Given the description of an element on the screen output the (x, y) to click on. 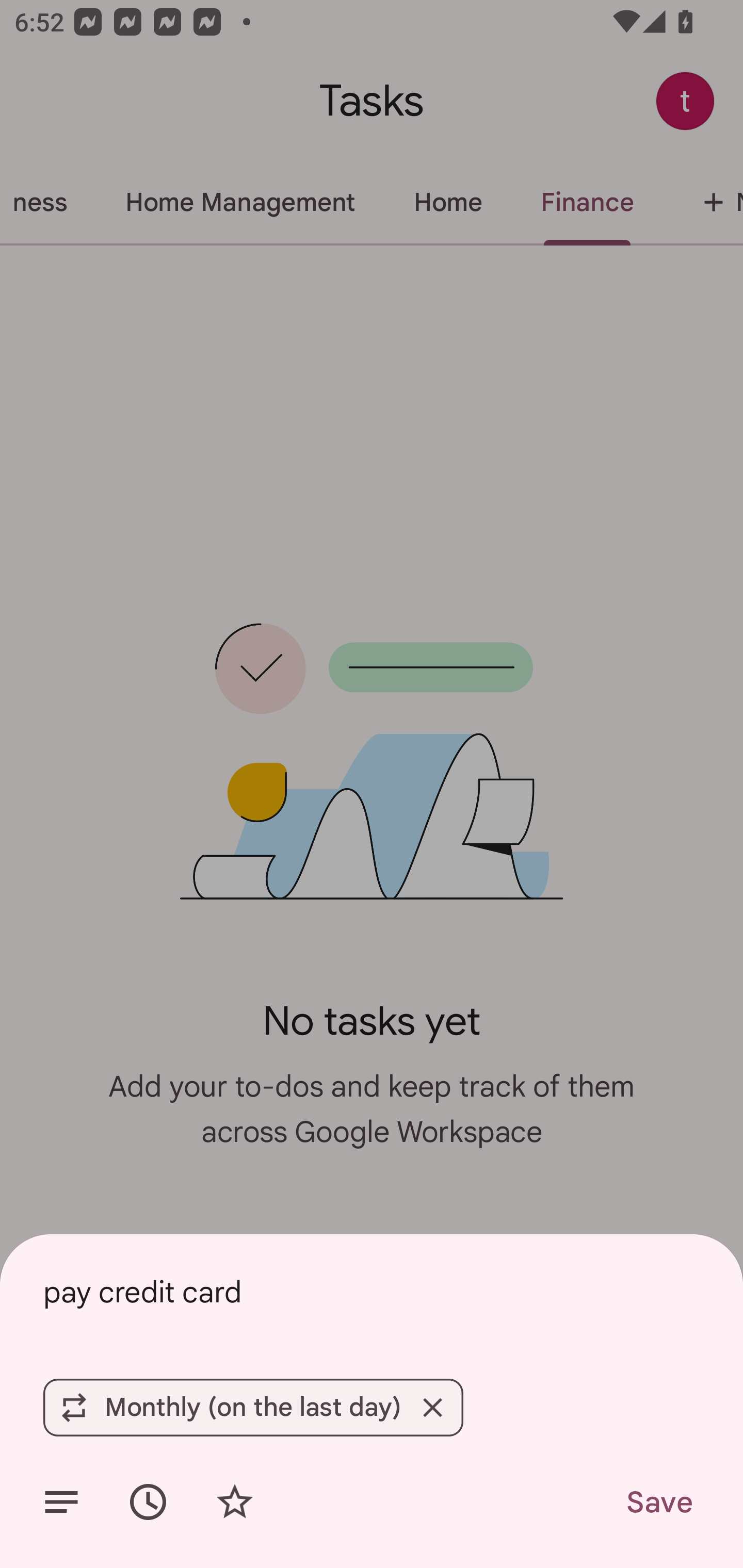
pay credit card (371, 1291)
Save (659, 1501)
Add details (60, 1501)
Set date/time (147, 1501)
Add star (234, 1501)
